Given the description of an element on the screen output the (x, y) to click on. 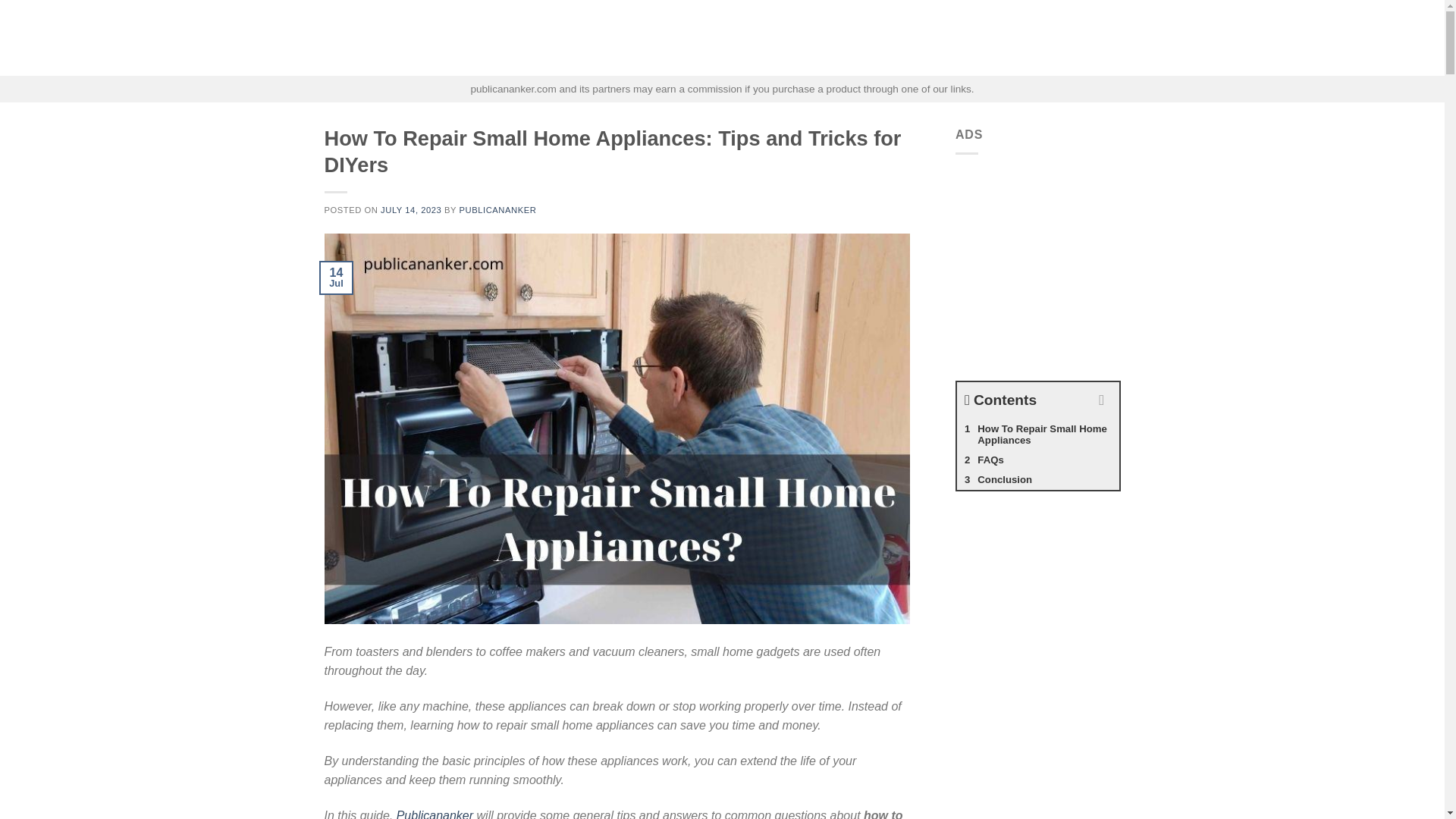
REFRIGERATORS (829, 37)
COOLERS (1055, 37)
How To Repair Small Home Appliances (1037, 435)
DRINKWARE (916, 37)
GAS RANGE (741, 37)
APPLIANCES (668, 37)
PUBLICANANKER (498, 209)
PUBLICAN ANKER (400, 37)
